Given the description of an element on the screen output the (x, y) to click on. 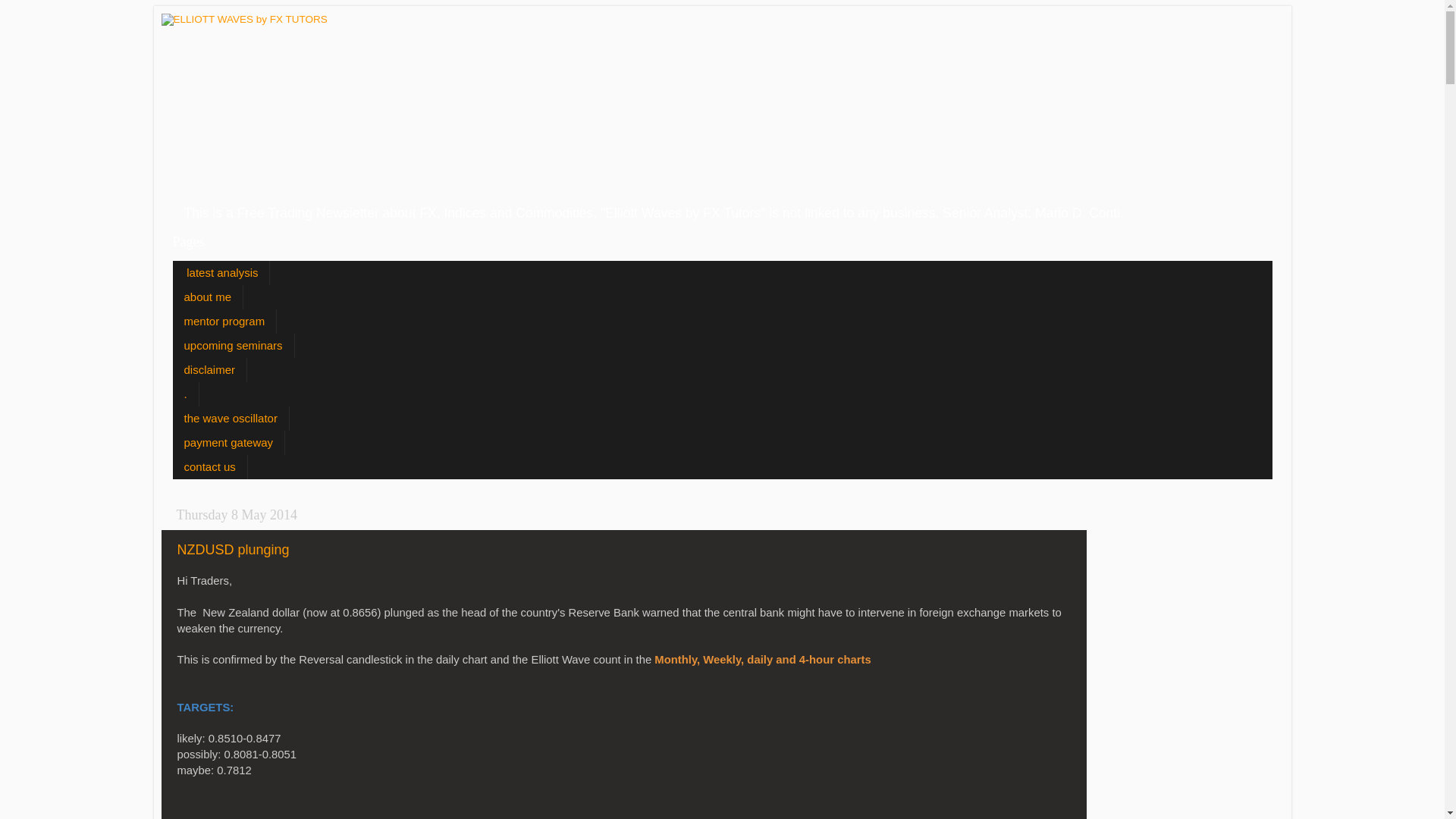
upcoming seminars Element type: text (233, 345)
latest analysis Element type: text (221, 272)
. Element type: text (185, 394)
the wave oscillator Element type: text (230, 418)
disclaimer Element type: text (209, 369)
mentor program Element type: text (224, 321)
about me Element type: text (208, 297)
payment gateway Element type: text (228, 442)
contact us Element type: text (209, 467)
NZDUSD plunging Element type: text (233, 549)
